Given the description of an element on the screen output the (x, y) to click on. 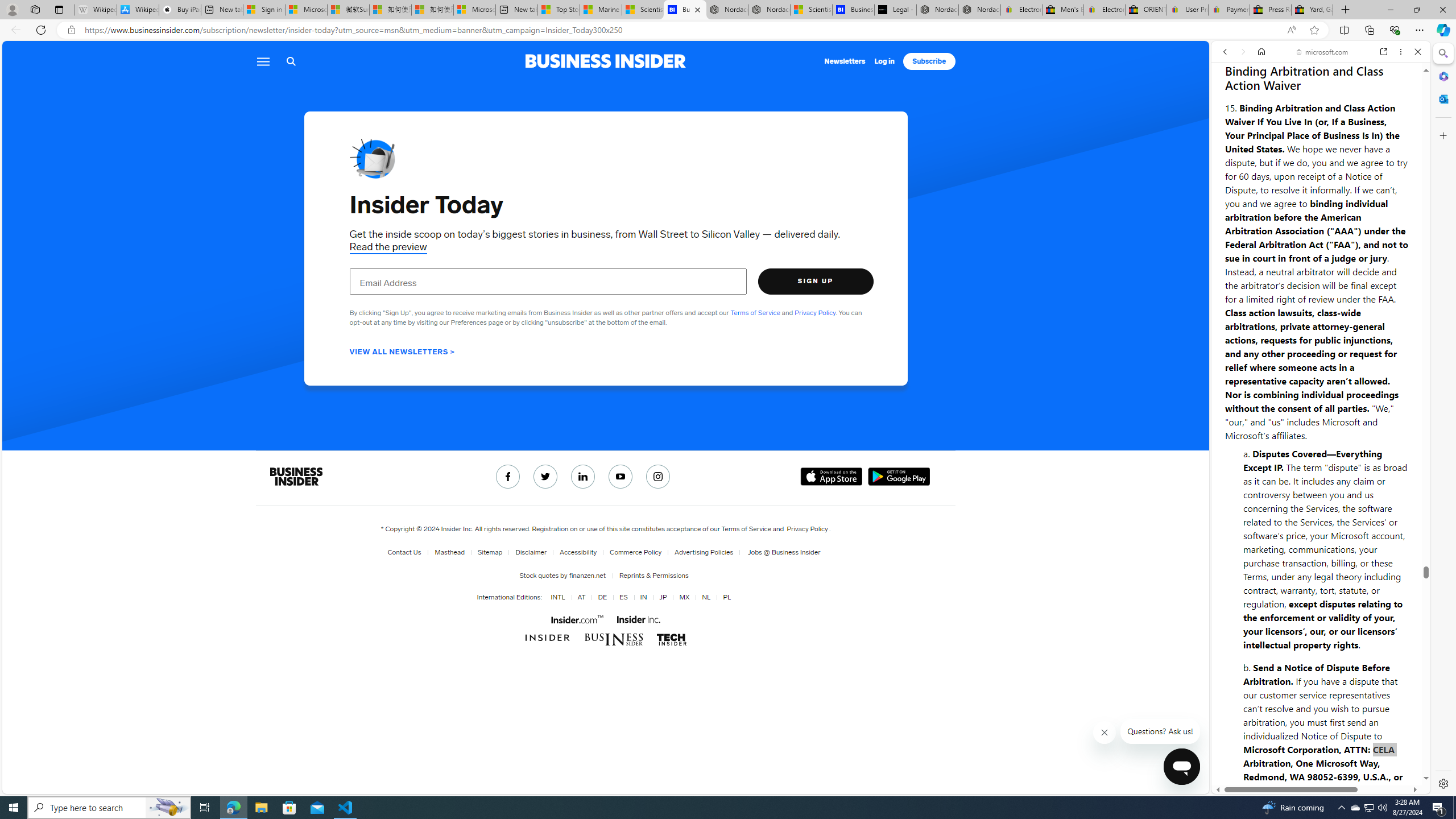
Go to the search page. (290, 61)
PL (726, 597)
Advertising Policies (703, 552)
Newsletters (845, 61)
DE (600, 597)
Questions? Ask us! (1161, 731)
Sitemap (487, 552)
Masthead (447, 552)
AT (579, 597)
